Given the description of an element on the screen output the (x, y) to click on. 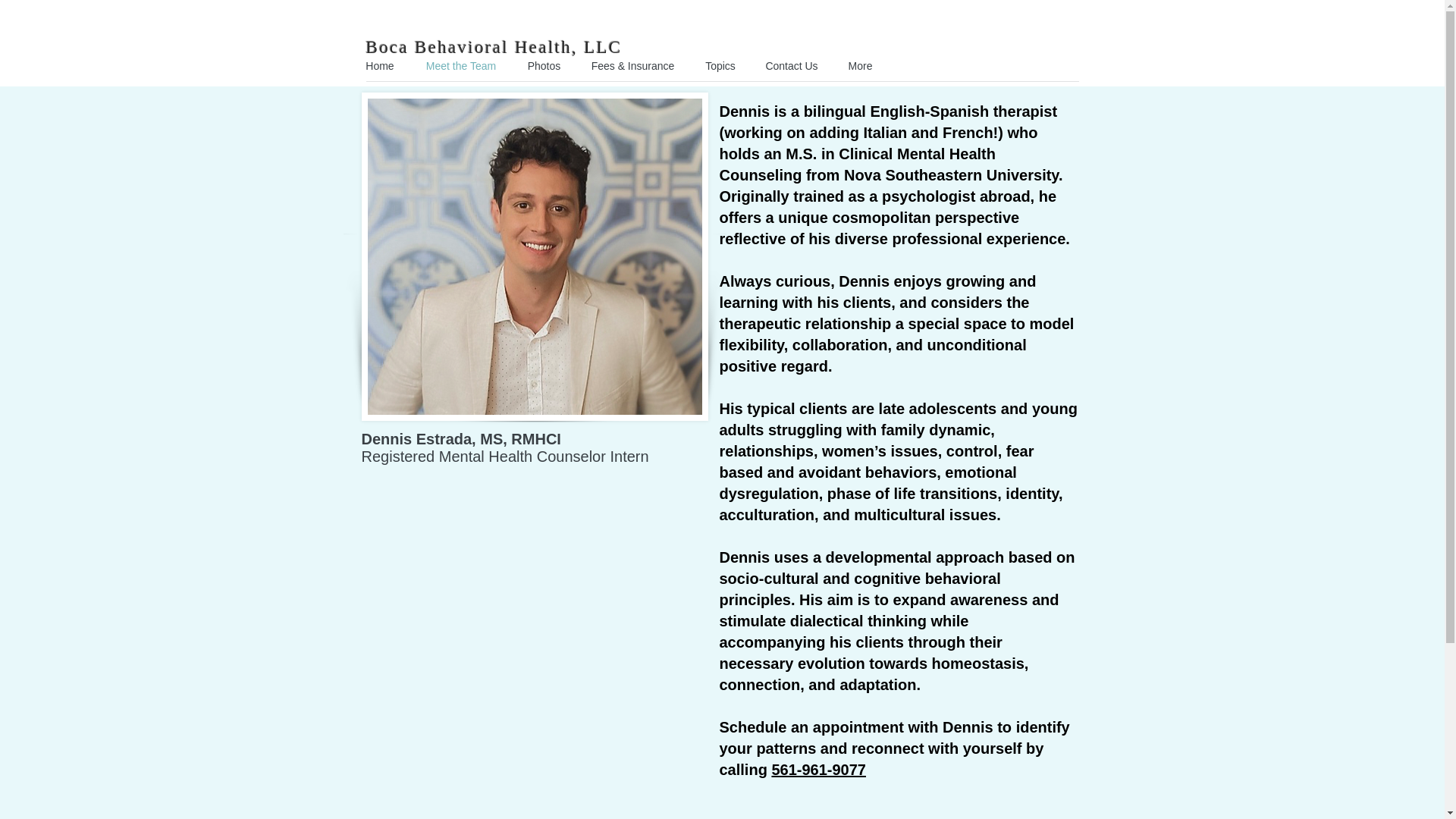
Topics (719, 65)
Home (379, 65)
Photos (543, 65)
561-961-9077 (818, 769)
Contact Us (791, 65)
Meet the Team (461, 65)
